Given the description of an element on the screen output the (x, y) to click on. 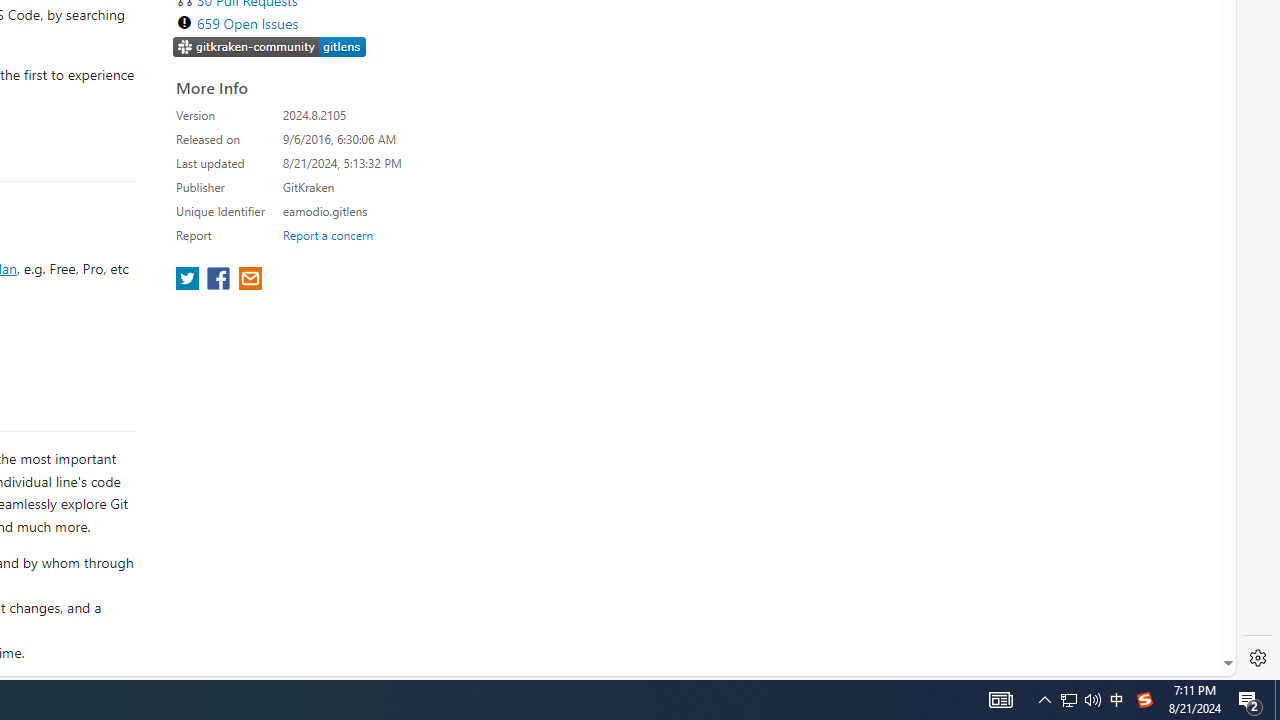
share extension on facebook (220, 280)
share extension on email (249, 280)
share extension on twitter (190, 280)
Report a concern (327, 234)
https://slack.gitkraken.com// (269, 48)
https://slack.gitkraken.com// (269, 46)
